Given the description of an element on the screen output the (x, y) to click on. 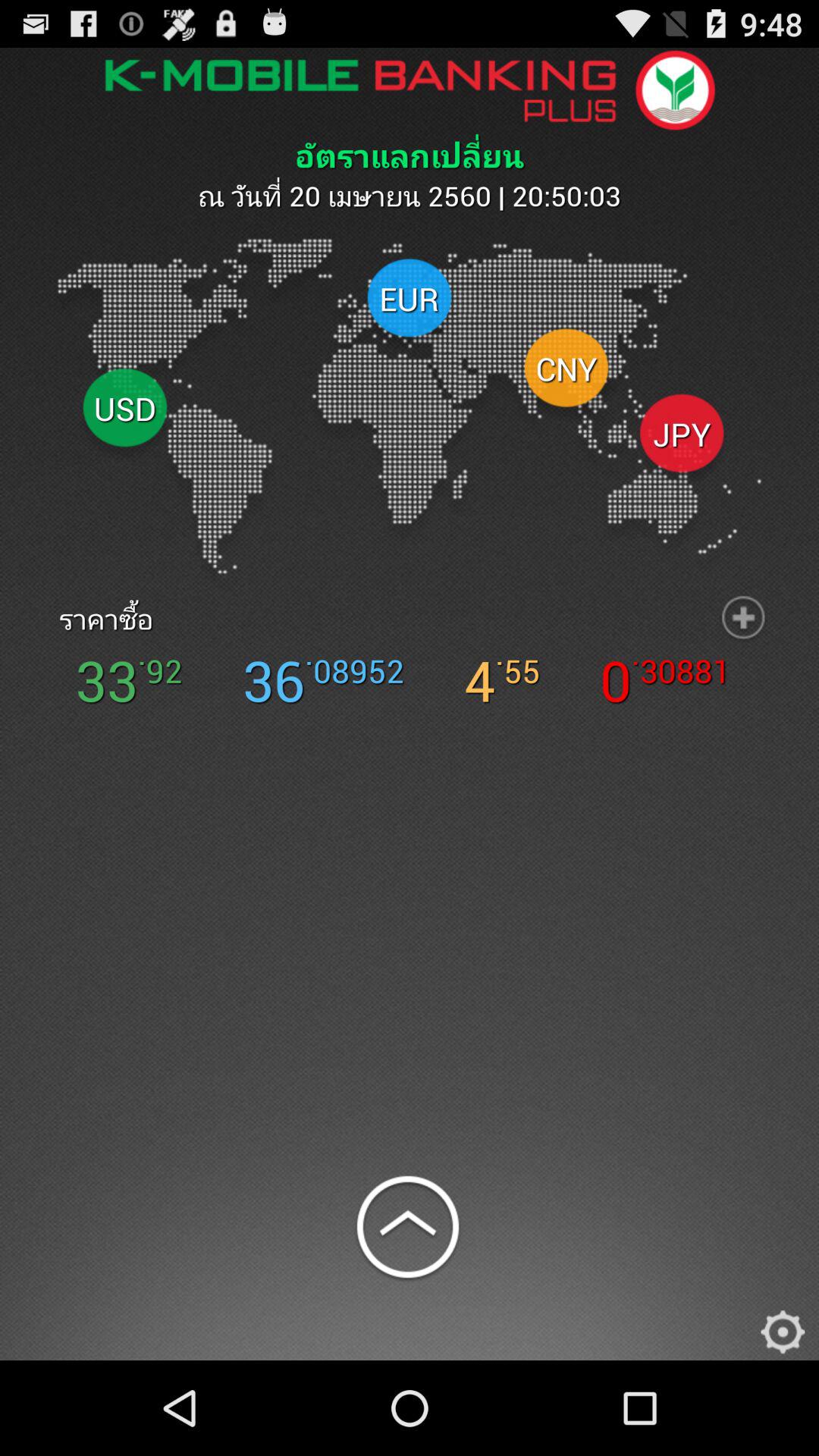
click icon at the bottom right corner (782, 1328)
